Given the description of an element on the screen output the (x, y) to click on. 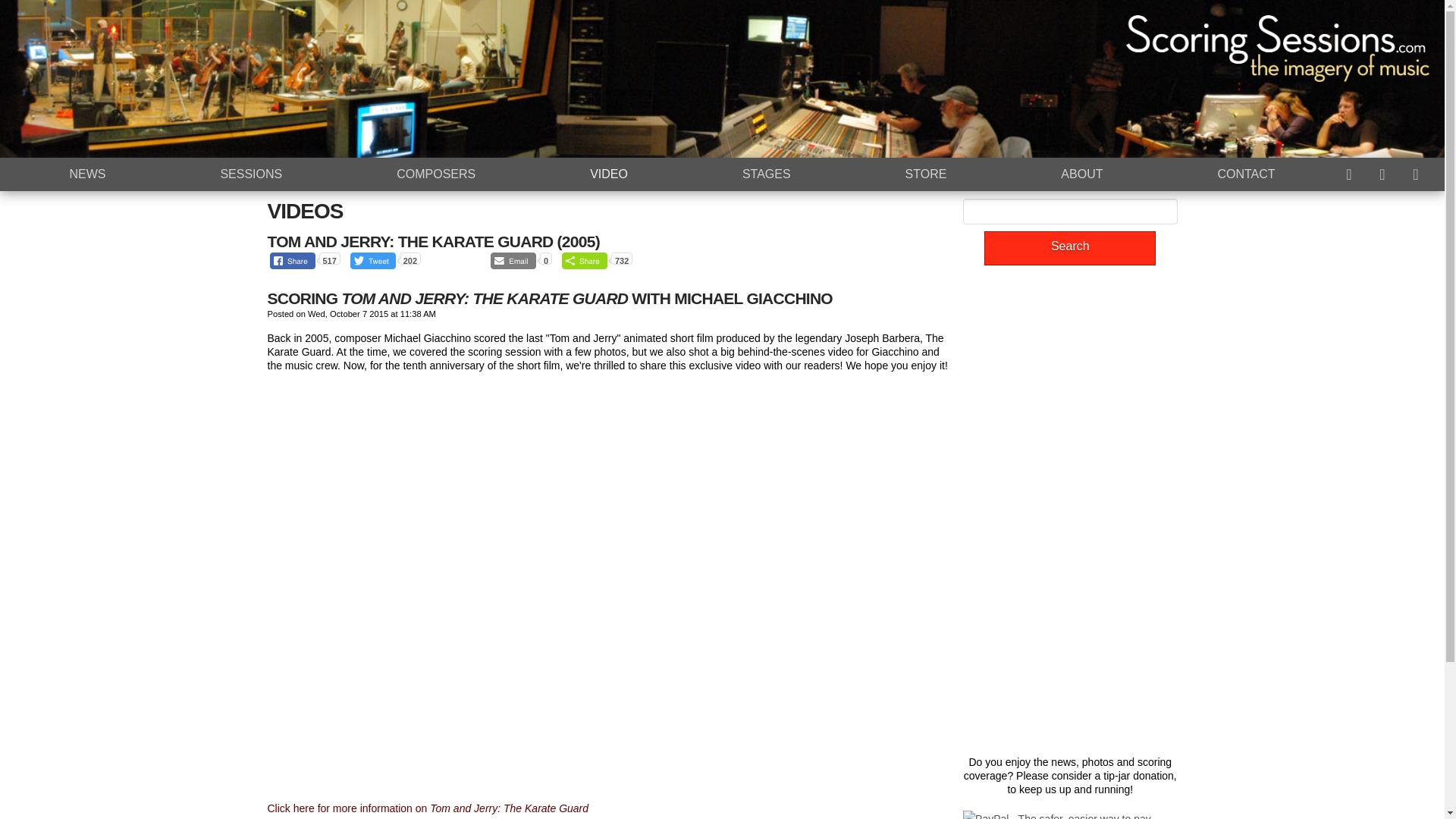
STORE (925, 174)
VIDEOS (304, 210)
VIDEO (608, 174)
Search (1070, 247)
TOM AND JERRY: THE KARATE GUARD (409, 241)
CONTACT (1246, 174)
COMPOSERS (435, 174)
STAGES (765, 174)
Search (1070, 247)
ABOUT (1082, 174)
NEWS (87, 174)
SESSIONS (251, 174)
